Given the description of an element on the screen output the (x, y) to click on. 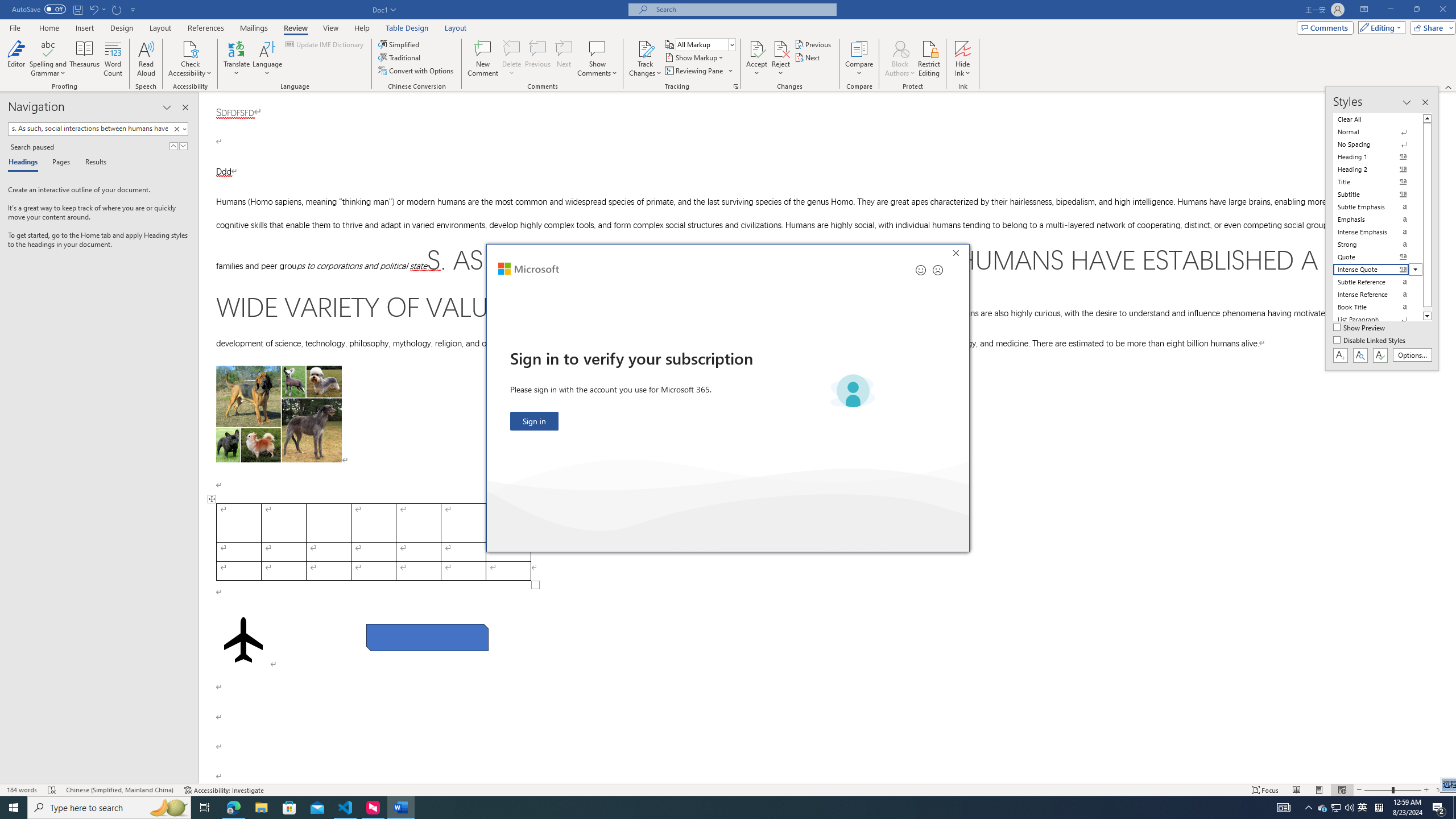
Display for Review (705, 44)
Previous (813, 44)
Show Comments (597, 48)
Options... (1412, 354)
Spelling and Grammar (48, 58)
No Spacing (1377, 144)
Check Accessibility (189, 48)
Delete (511, 48)
Track Changes (644, 58)
Thesaurus... (84, 58)
